Given the description of an element on the screen output the (x, y) to click on. 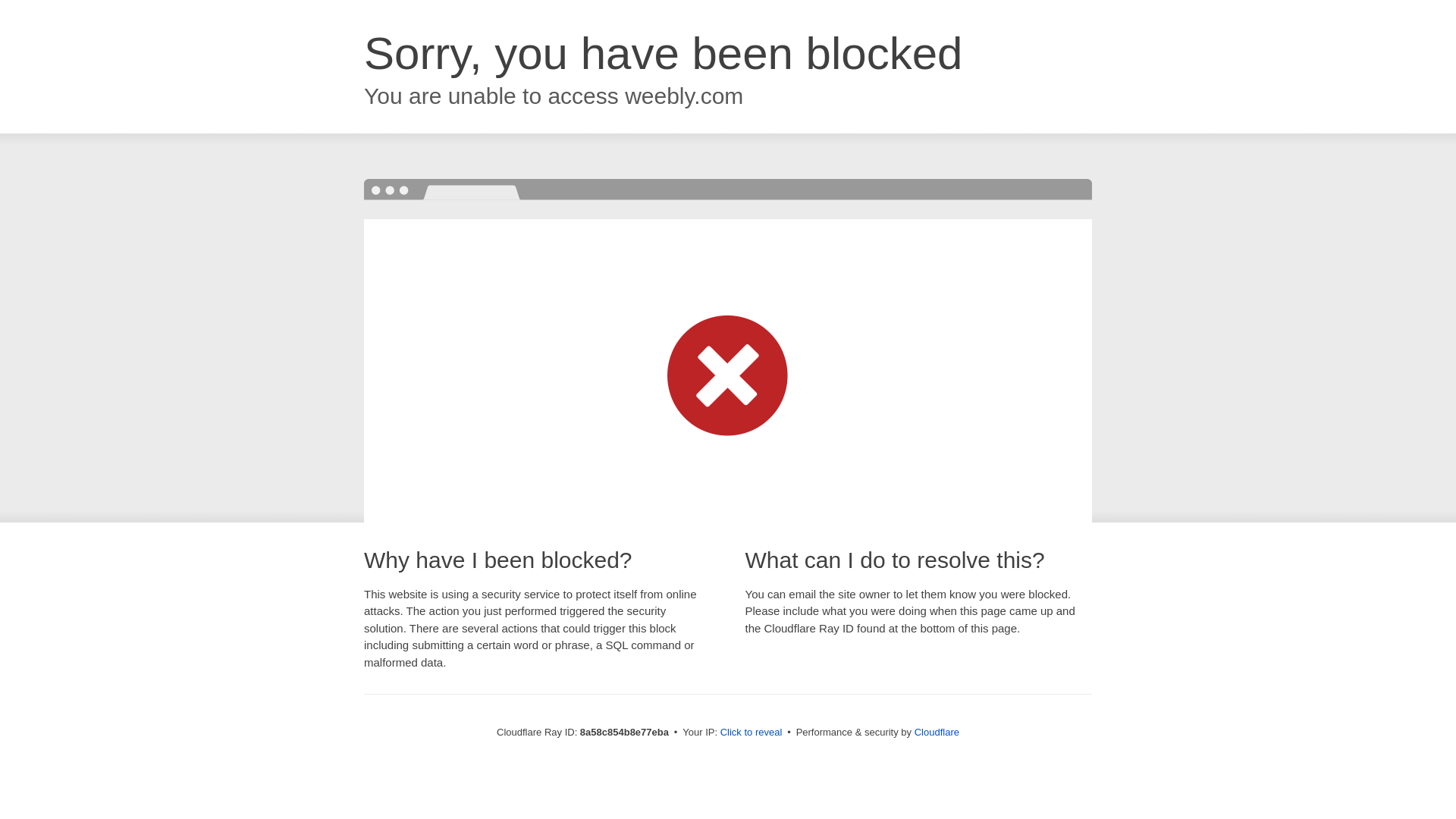
Cloudflare (936, 731)
Click to reveal (751, 732)
